Given the description of an element on the screen output the (x, y) to click on. 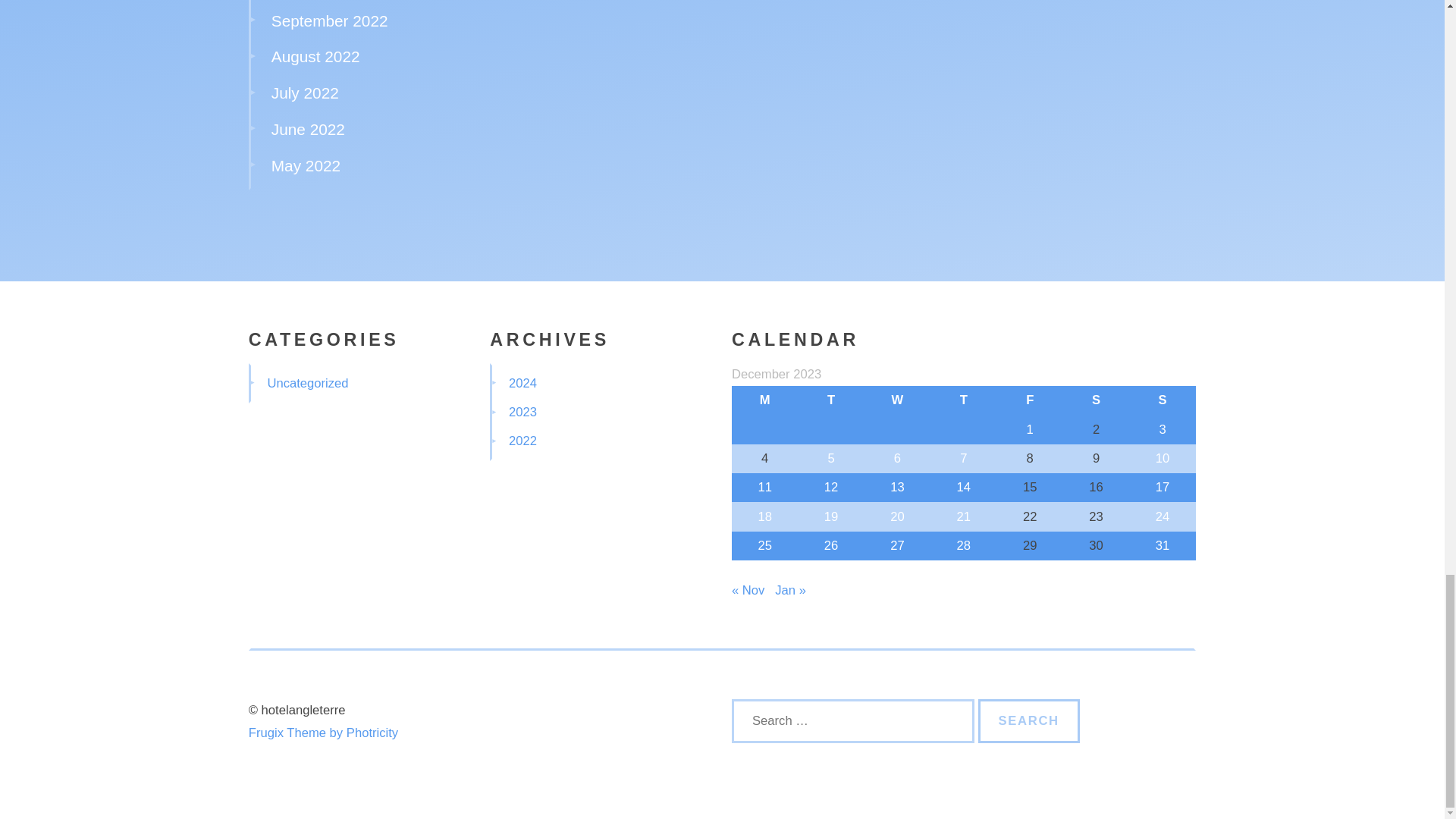
2023 (522, 411)
Monday (764, 399)
Wednesday (897, 399)
Saturday (1095, 399)
Friday (1029, 399)
Sunday (1162, 399)
2024 (522, 382)
Tuesday (830, 399)
Uncategorized (306, 382)
July 2022 (304, 92)
